Given the description of an element on the screen output the (x, y) to click on. 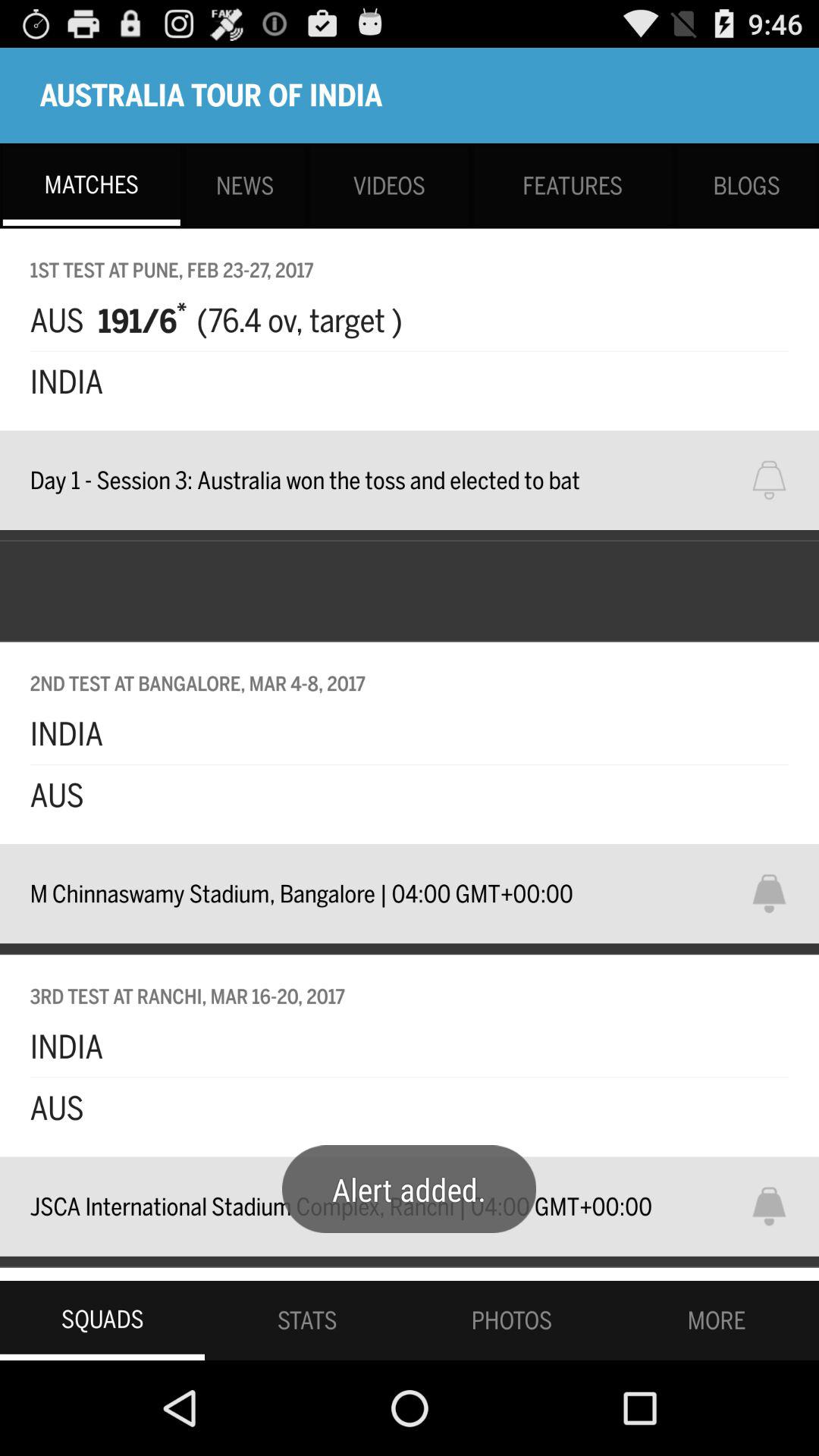
sets alarm (778, 893)
